Given the description of an element on the screen output the (x, y) to click on. 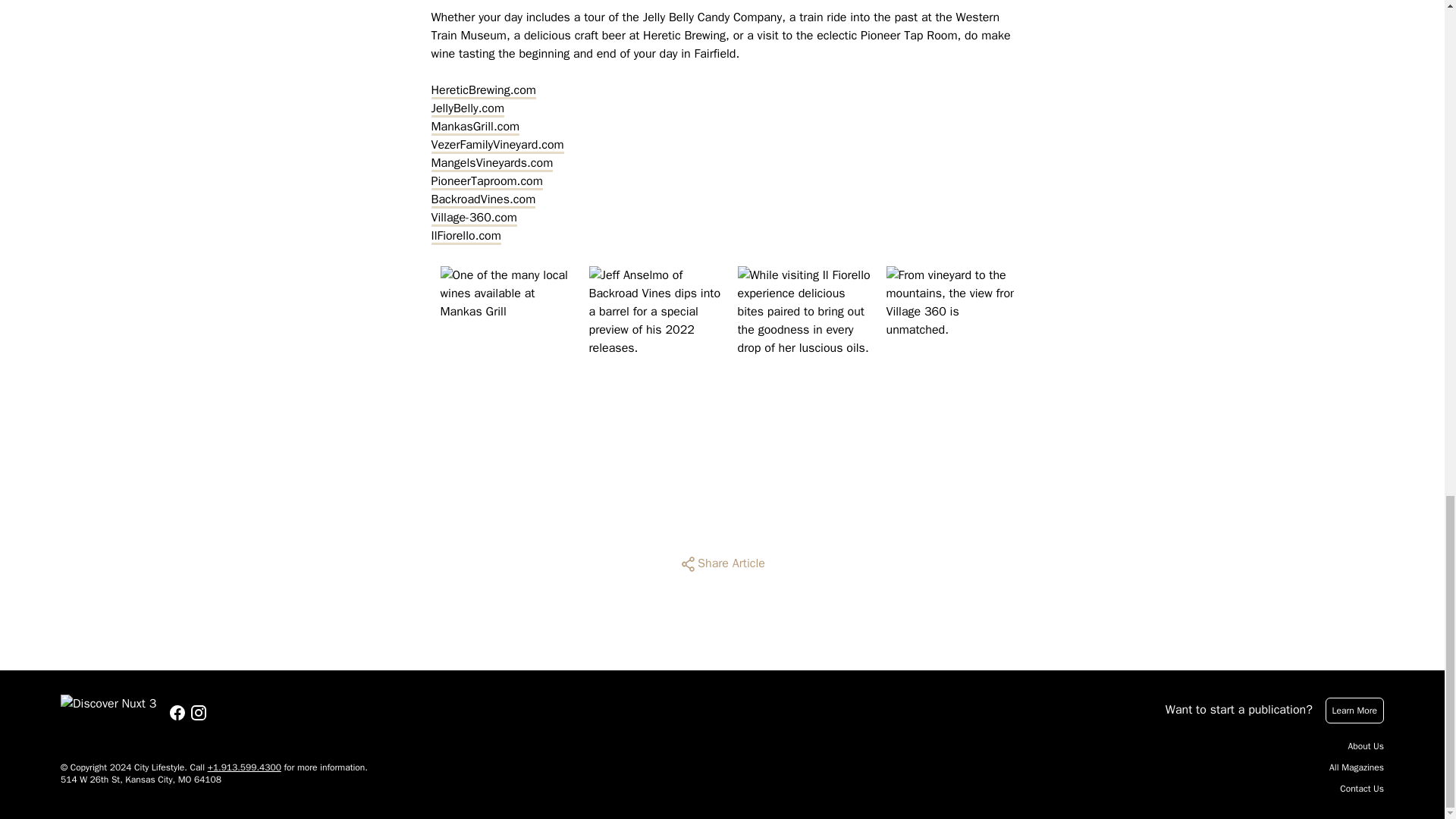
Village-360.com (473, 217)
Learn More (1354, 710)
VezerFamilyVineyard.com (496, 144)
BackroadVines.com (482, 199)
PioneerTaproom.com (485, 180)
HereticBrewing.com (482, 90)
Share Article (722, 563)
MangelsVineyards.com (491, 162)
IlFiorello.com (465, 235)
JellyBelly.com (466, 108)
